Given the description of an element on the screen output the (x, y) to click on. 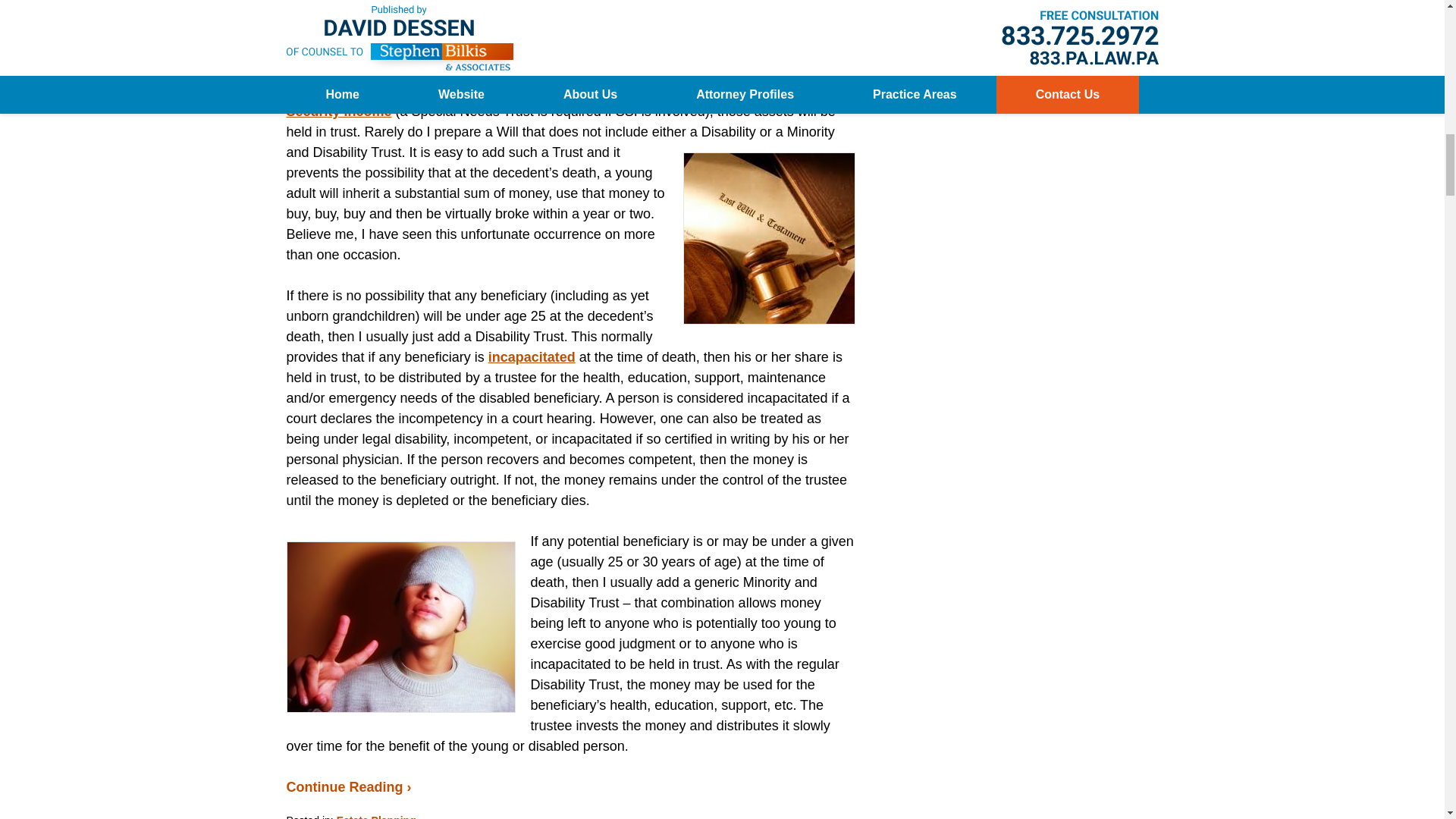
Trusts (459, 70)
incapacitated (531, 356)
View all posts in Estate Planning (376, 816)
Supplemental Security Income (562, 100)
